Given the description of an element on the screen output the (x, y) to click on. 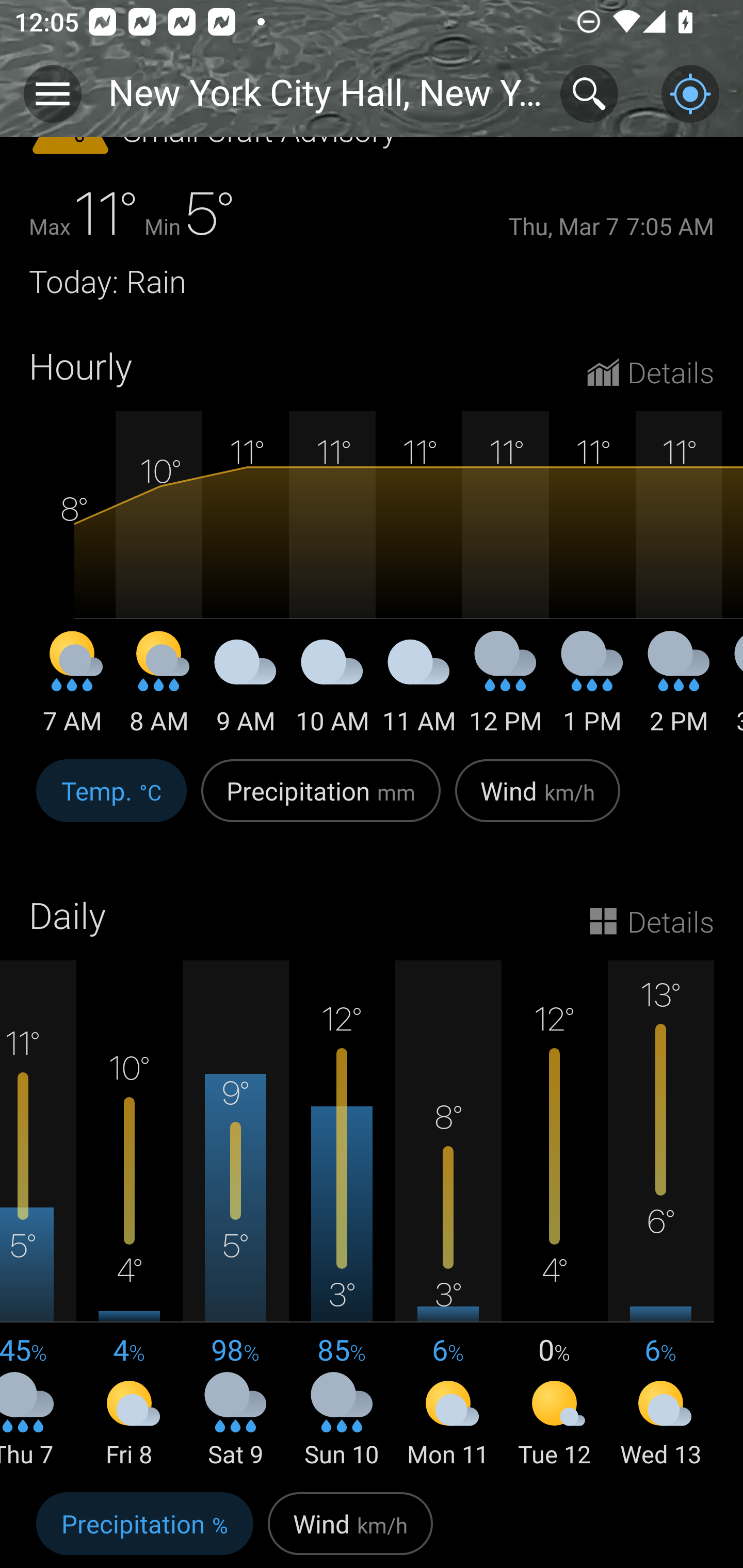
7 AM 8 AM 9 AM 10 AM 11 AM 12 PM 1 PM 2 PM 3 PM (371, 574)
7 AM (71, 689)
8 AM (158, 689)
9 AM (245, 689)
10 AM (332, 689)
11 AM (418, 689)
12 PM (505, 689)
1 PM (592, 689)
2 PM (679, 689)
Temp. °C (110, 801)
Precipitation mm (320, 801)
Wind km/h (537, 801)
11° 5° 45 % Thu 7 (38, 1214)
10° 4° 4 % Fri 8 (129, 1214)
9° 5° 98 % Sat 9 (235, 1214)
12° 3° 85 % Sun 10 (342, 1214)
8° 3° 6 % Mon 11 (448, 1214)
12° 4° 0 % Tue 12 (554, 1214)
13° 6° 6 % Wed 13 (660, 1214)
Precipitation % (144, 1526)
Wind km/h (349, 1526)
